Given the description of an element on the screen output the (x, y) to click on. 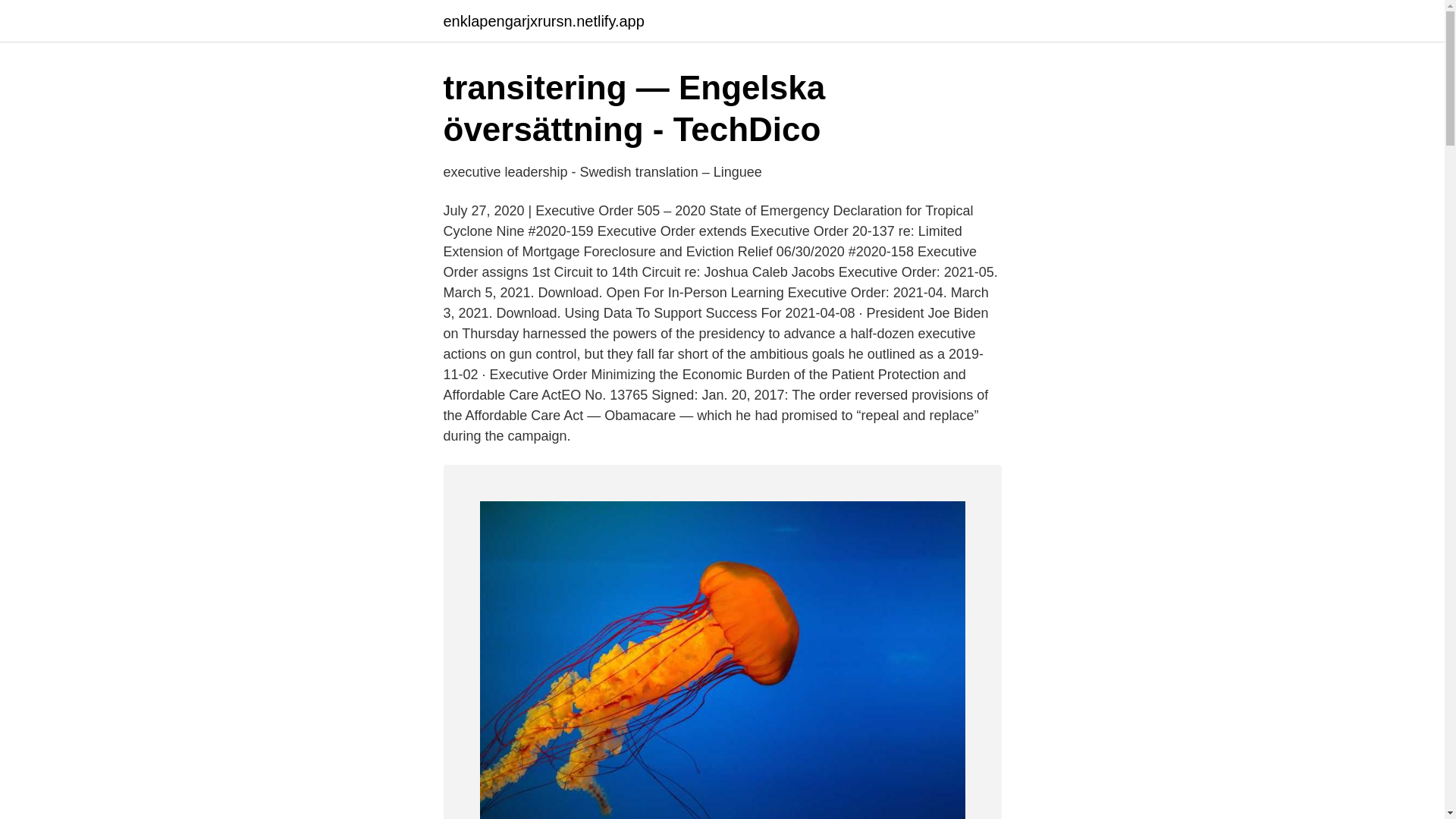
enklapengarjxrursn.netlify.app (542, 20)
